Given the description of an element on the screen output the (x, y) to click on. 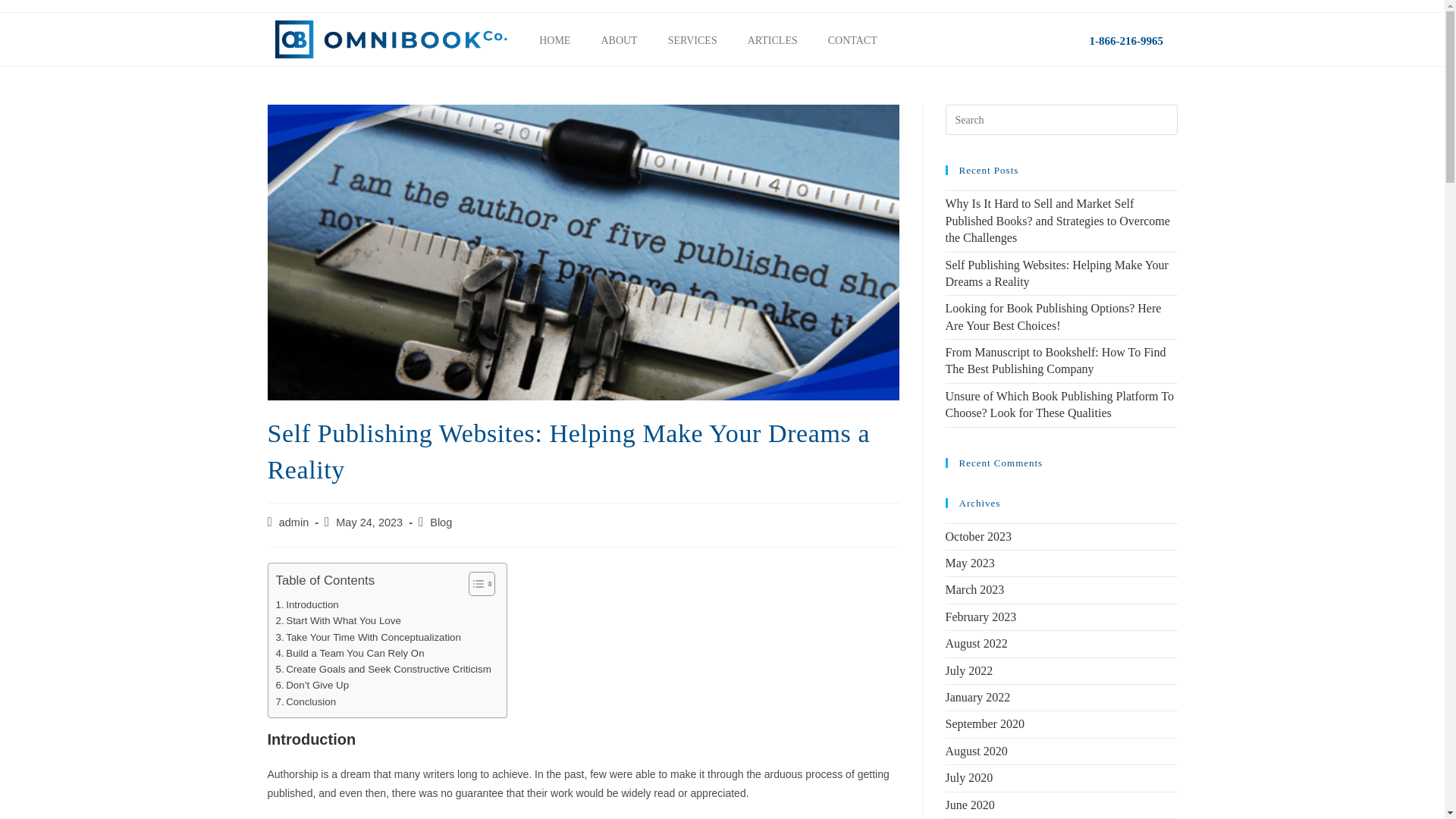
Posts by admin (293, 522)
ARTICLES (772, 40)
CONTACT (852, 40)
admin (293, 522)
Introduction (307, 604)
Introduction (307, 604)
ABOUT (618, 40)
Blog (440, 522)
Start With What You Love (338, 620)
Build a Team You Can Rely On  (350, 652)
